Given the description of an element on the screen output the (x, y) to click on. 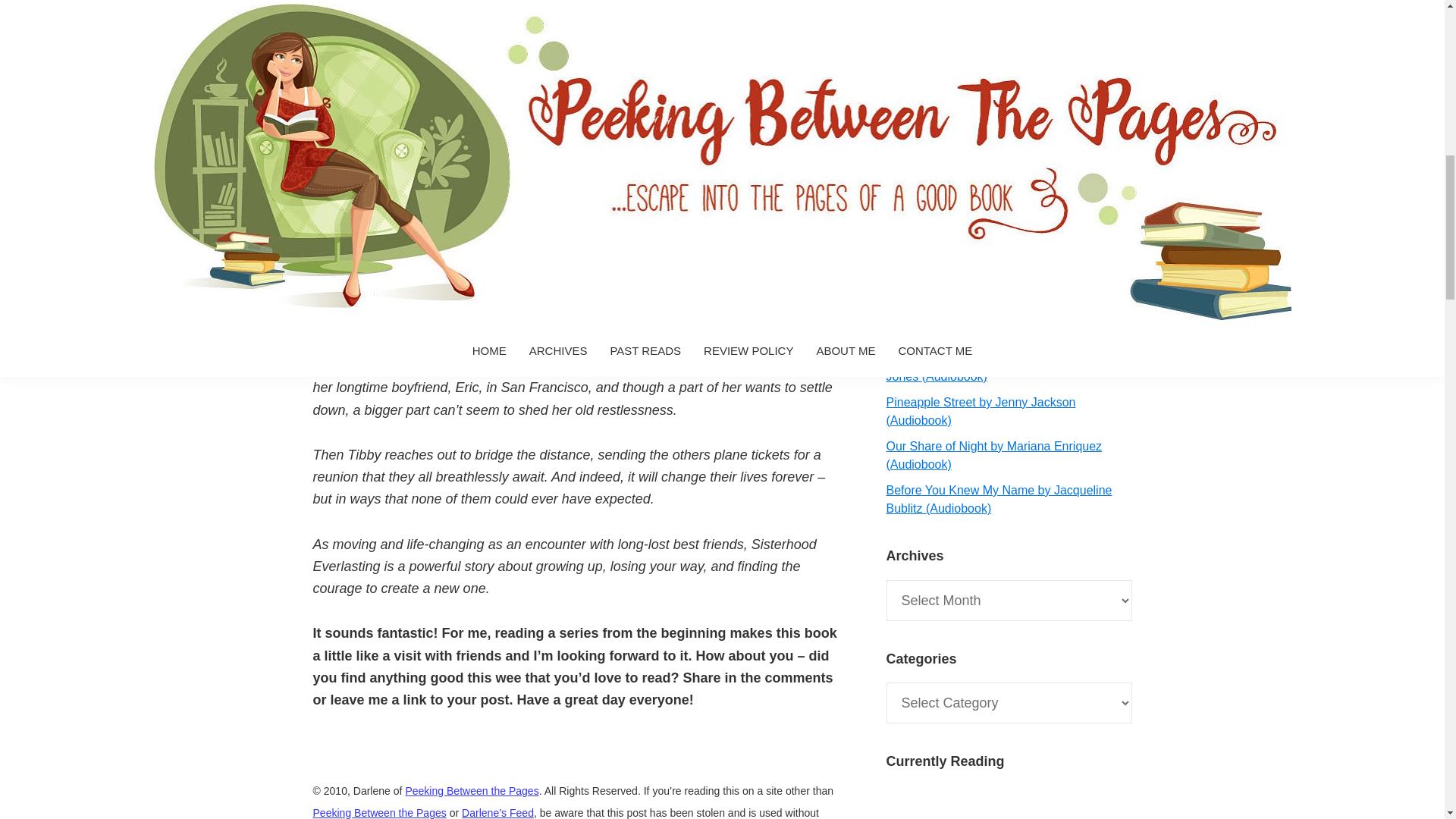
Subscribe (1008, 239)
Fantastic Fiction (401, 97)
Sisterhood Everlasting (520, 30)
Peeking Between the Pages (471, 789)
Peeking Between the Pages (379, 812)
